Given the description of an element on the screen output the (x, y) to click on. 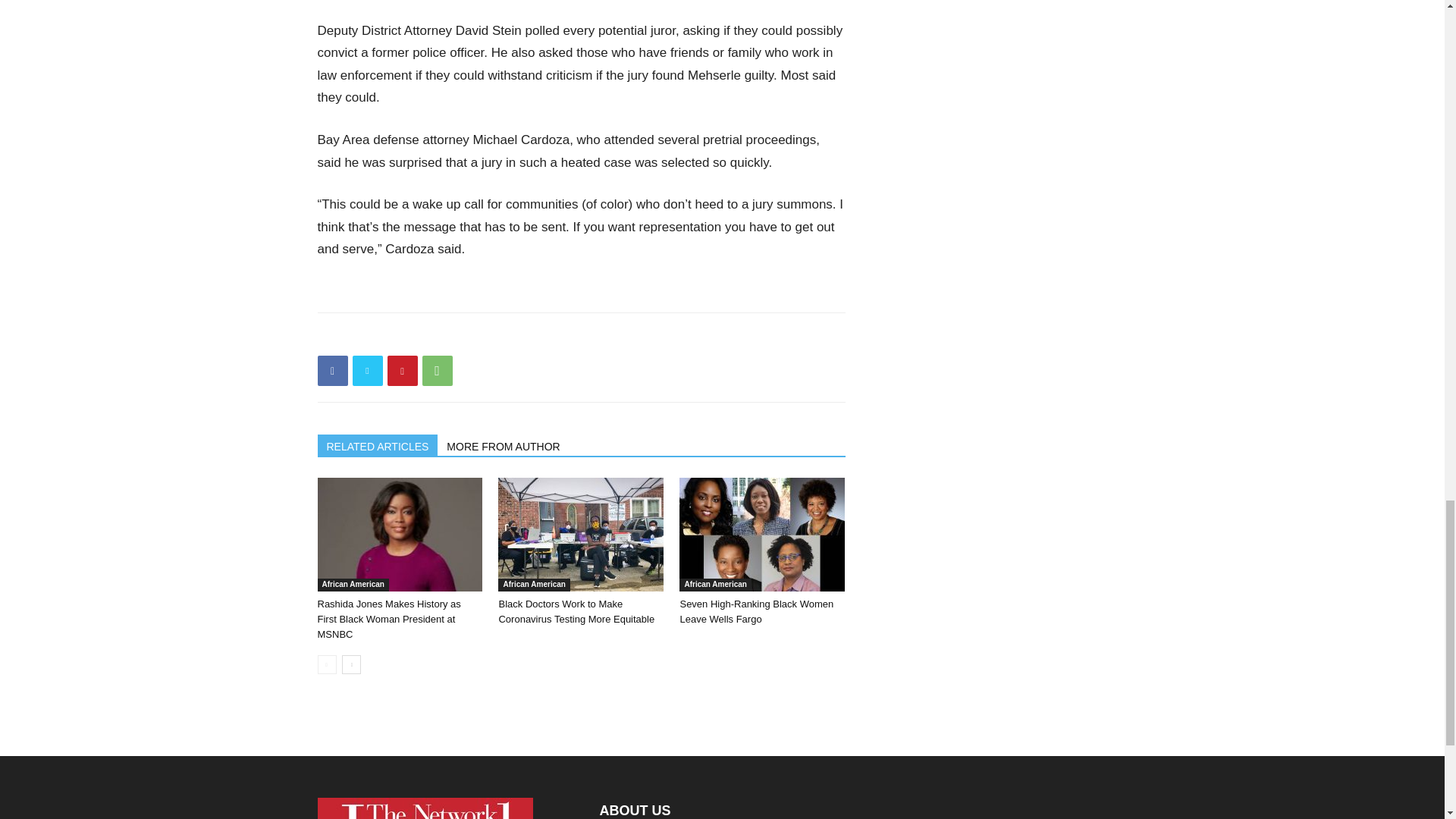
Facebook (332, 370)
Twitter (366, 370)
